Given the description of an element on the screen output the (x, y) to click on. 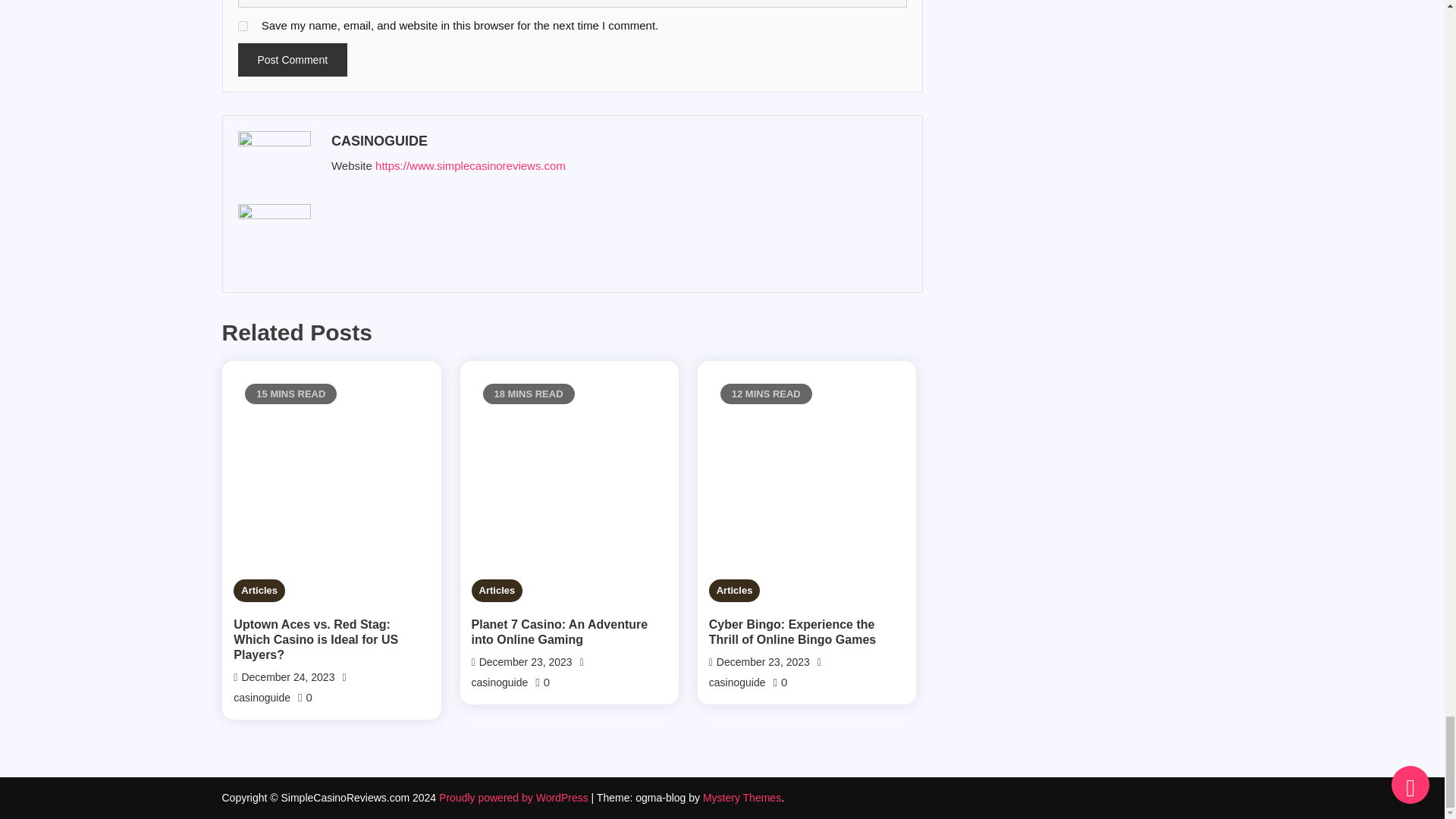
Posts by casinoguide (615, 141)
Post Comment (292, 59)
yes (242, 26)
